Given the description of an element on the screen output the (x, y) to click on. 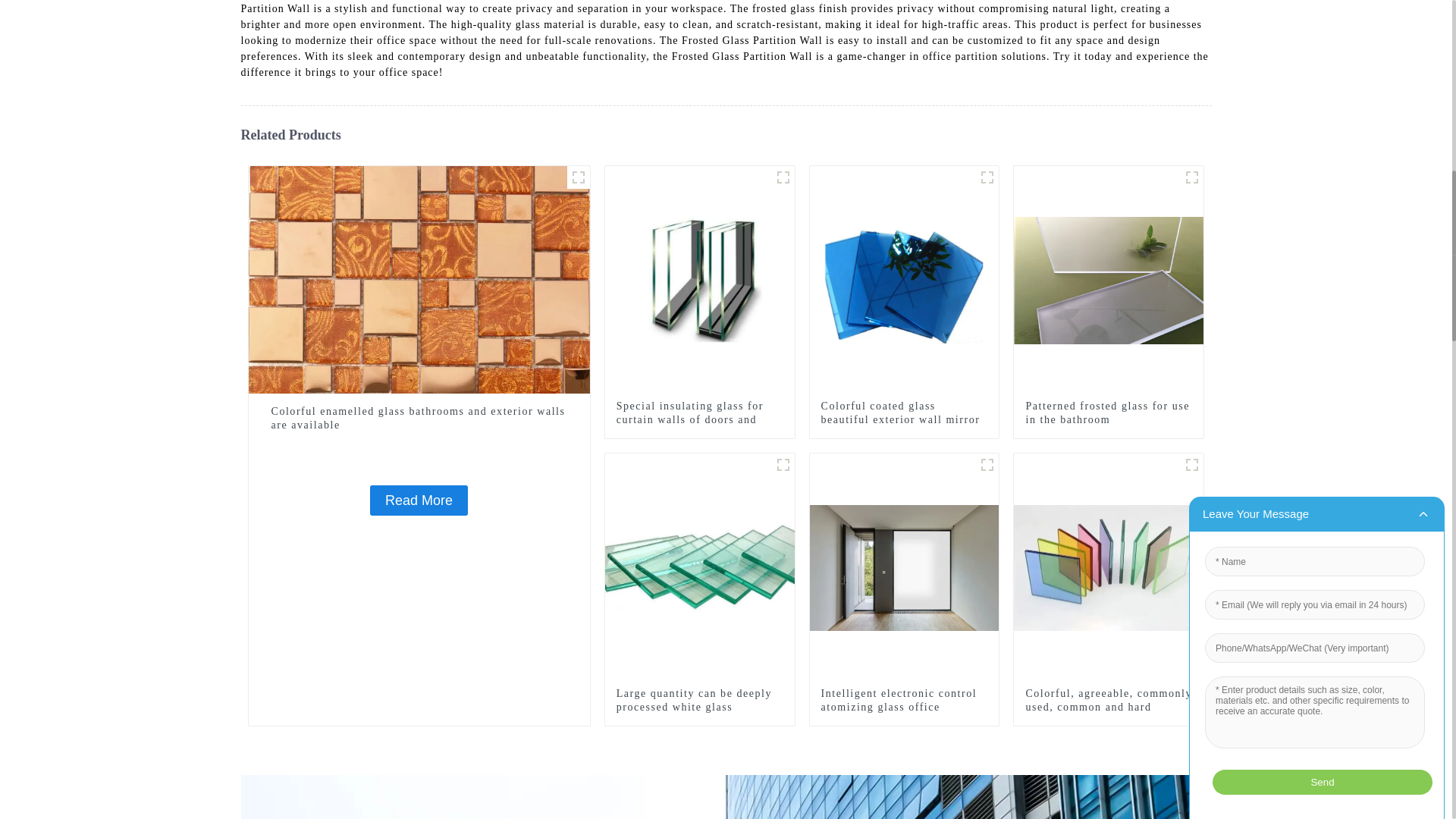
enamelled glass (578, 177)
frosted glass (1192, 177)
Patterned frosted glass for use in the bathroom (1108, 412)
White glass (782, 464)
Large quantity can be deeply processed white glass (699, 700)
Large quantity can be deeply processed white glass (699, 567)
Colorful coated glass beautiful exterior wall mirror (904, 412)
Insulating glass (782, 177)
dimming glass (986, 464)
coated glass (986, 177)
